Given the description of an element on the screen output the (x, y) to click on. 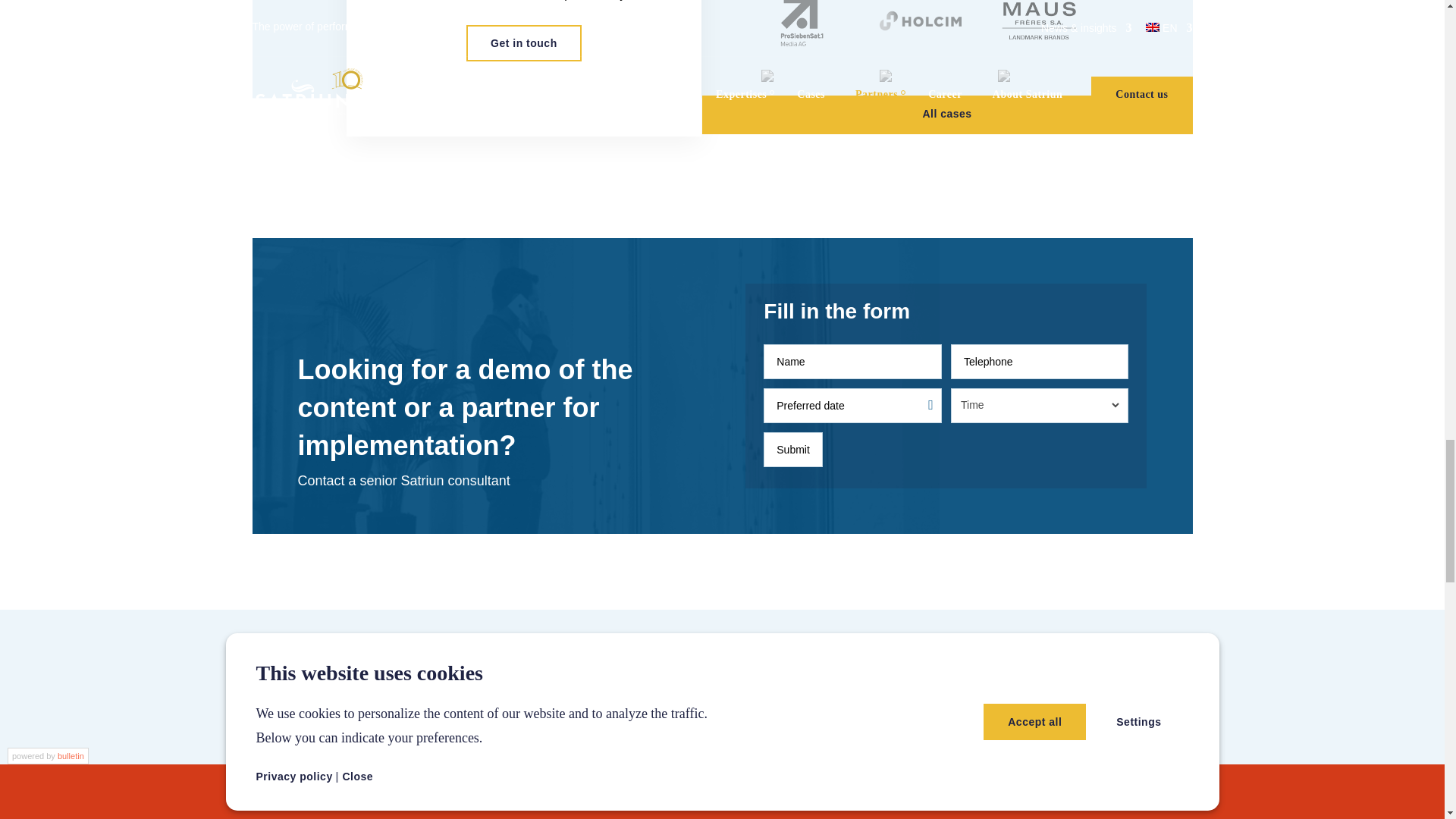
Submit (792, 449)
